Given the description of an element on the screen output the (x, y) to click on. 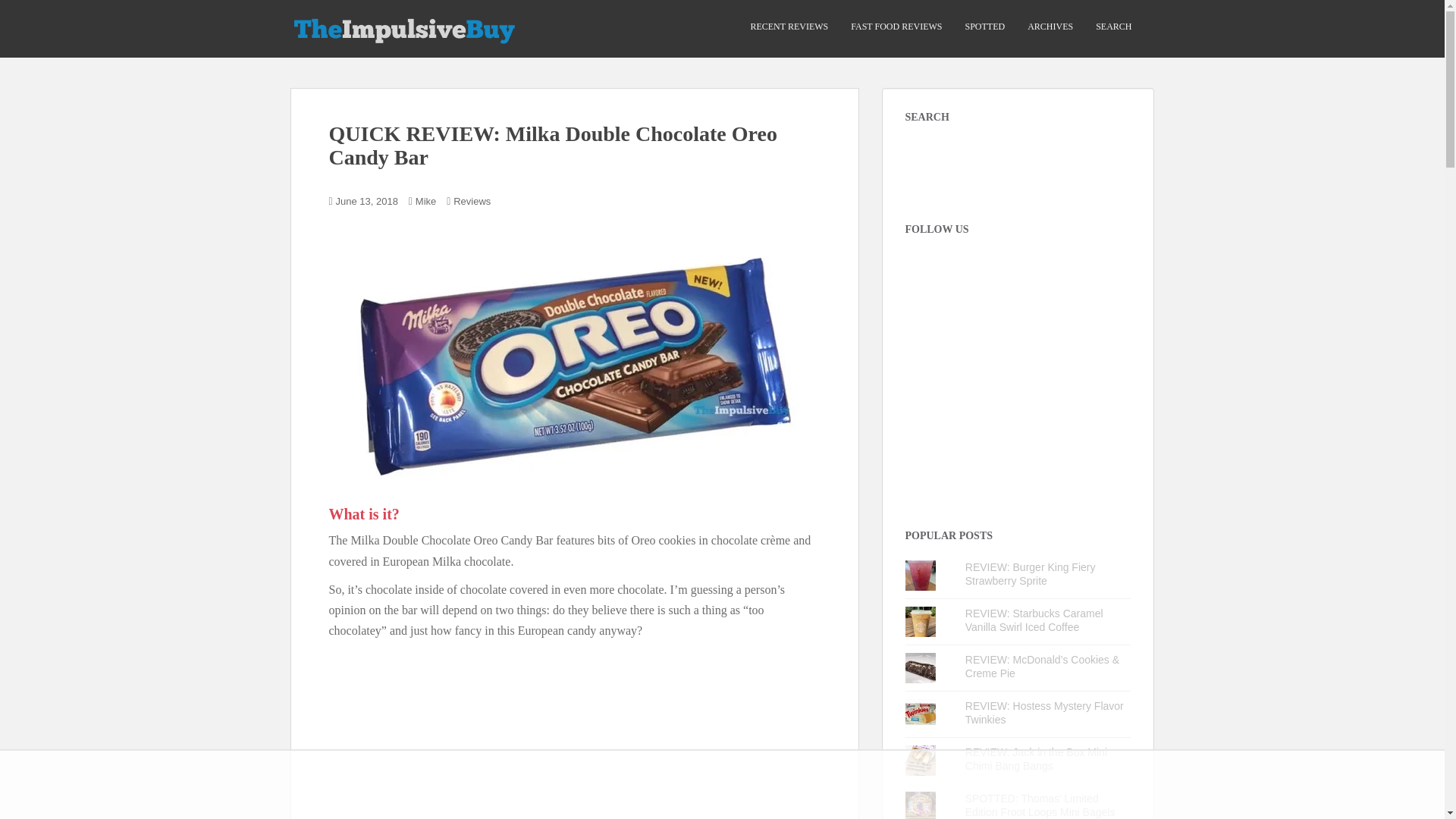
Mike (424, 201)
Milka Double Chocolate Oreo Chocolate Candy Bar.jpg (573, 361)
RECENT REVIEWS (788, 26)
Pinterest (998, 266)
Instagram (917, 266)
SEARCH (1113, 26)
RSS Feed (1053, 266)
Threads (971, 266)
YouTube (1025, 266)
REVIEW: Starbucks Caramel Vanilla Swirl Iced Coffee (1034, 620)
